Given the description of an element on the screen output the (x, y) to click on. 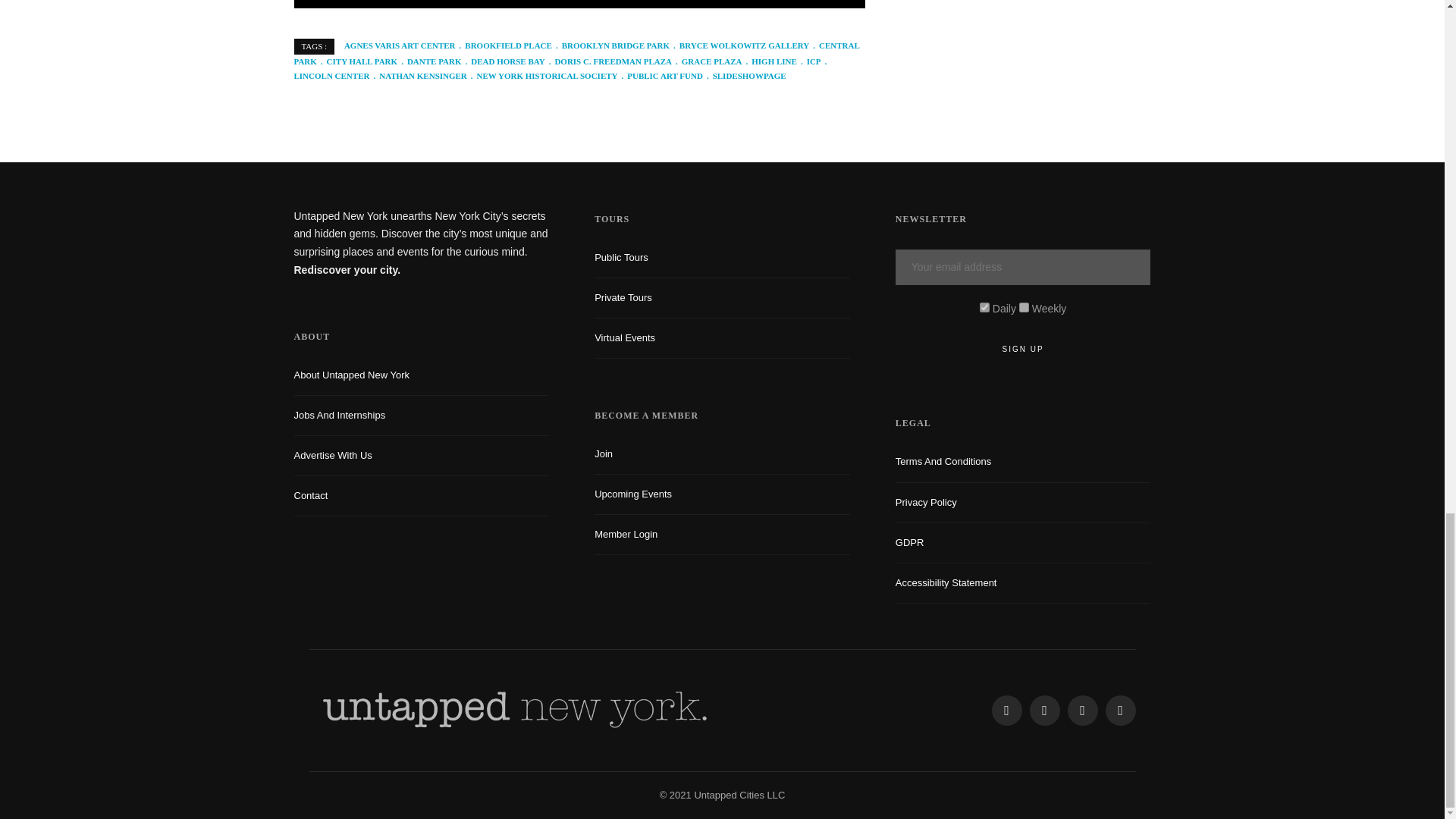
Sign up (1023, 349)
e99a09560c (984, 307)
7cff6a70fd (1024, 307)
